Given the description of an element on the screen output the (x, y) to click on. 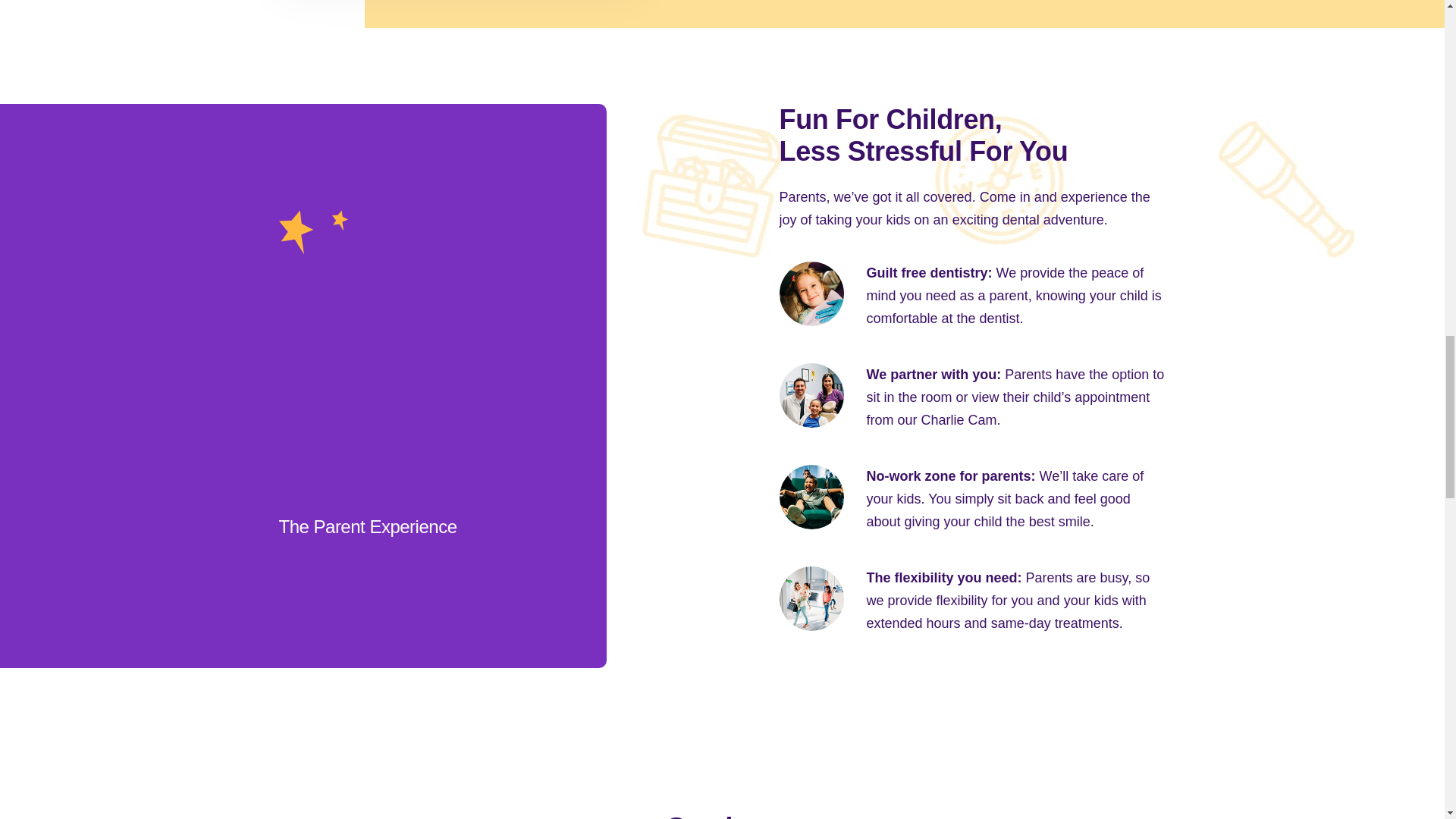
Family Smiles Parent Experience (483, 386)
